Given the description of an element on the screen output the (x, y) to click on. 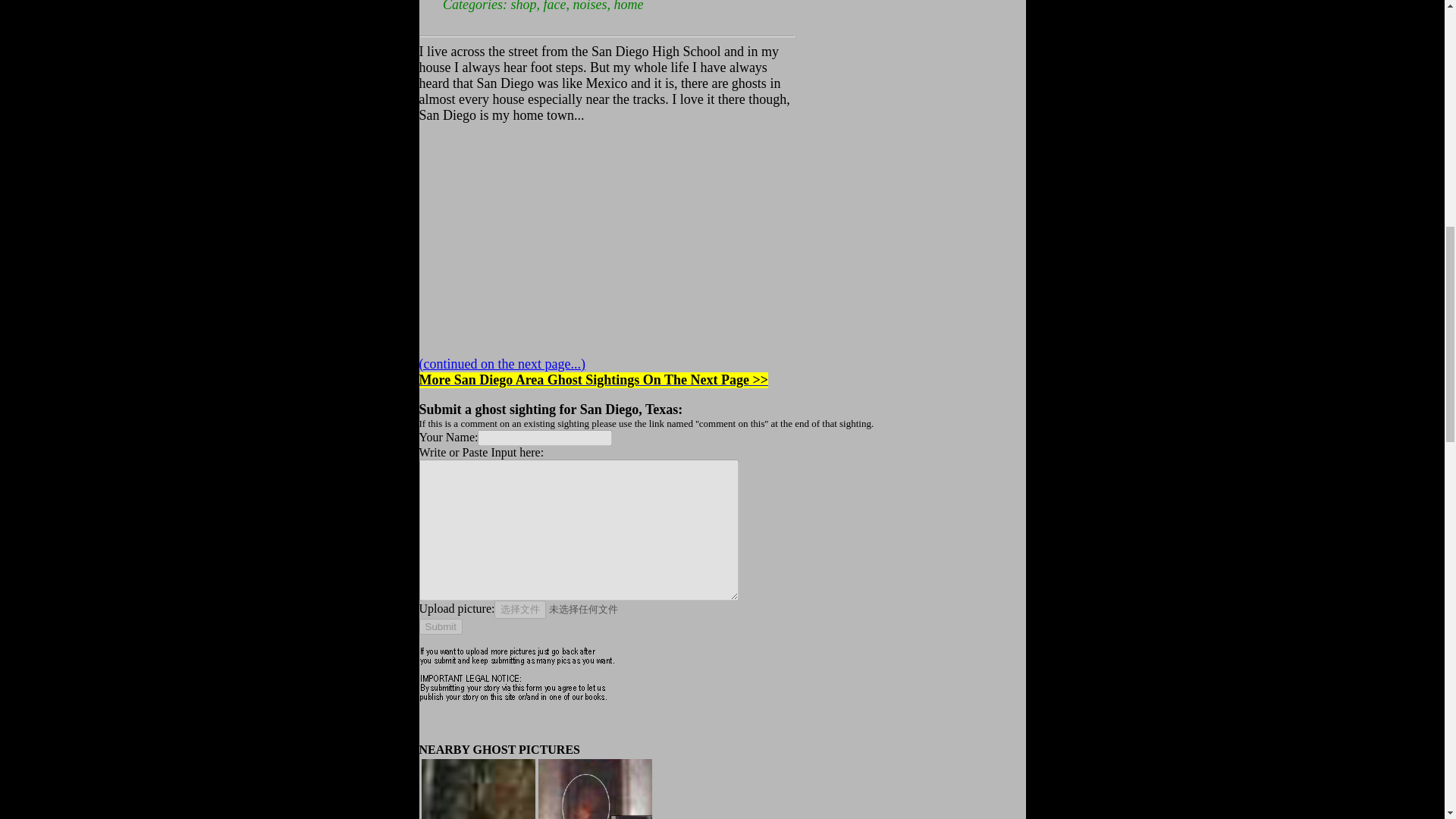
Submit (440, 626)
